Given the description of an element on the screen output the (x, y) to click on. 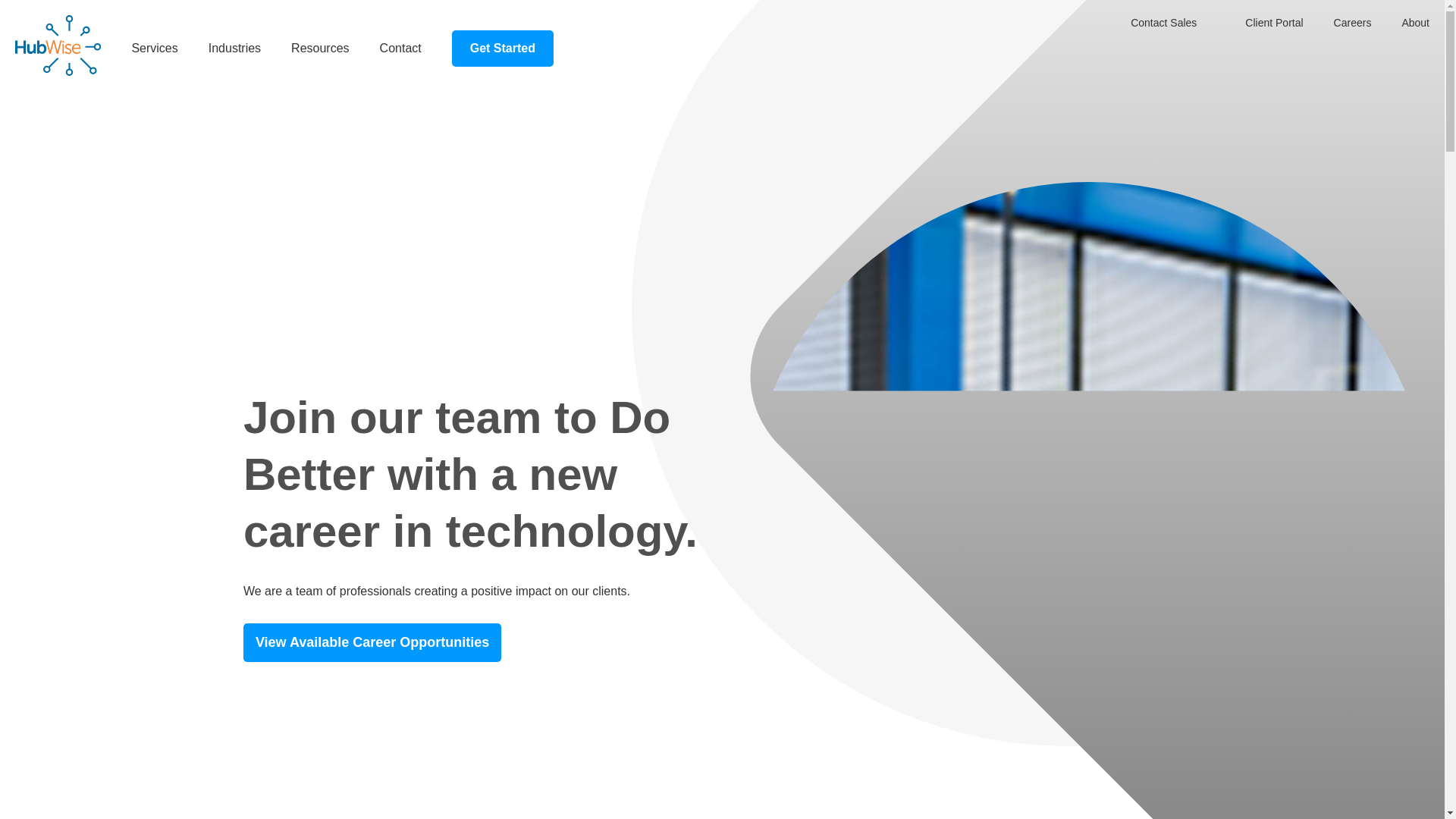
Careers (1352, 23)
Contact Sales (1163, 23)
Get Started (502, 48)
About (1414, 23)
View Available Career Opportunities (371, 642)
Contact (401, 48)
Industries (234, 48)
Client Portal (1273, 23)
Resources (320, 48)
Services (154, 48)
